Given the description of an element on the screen output the (x, y) to click on. 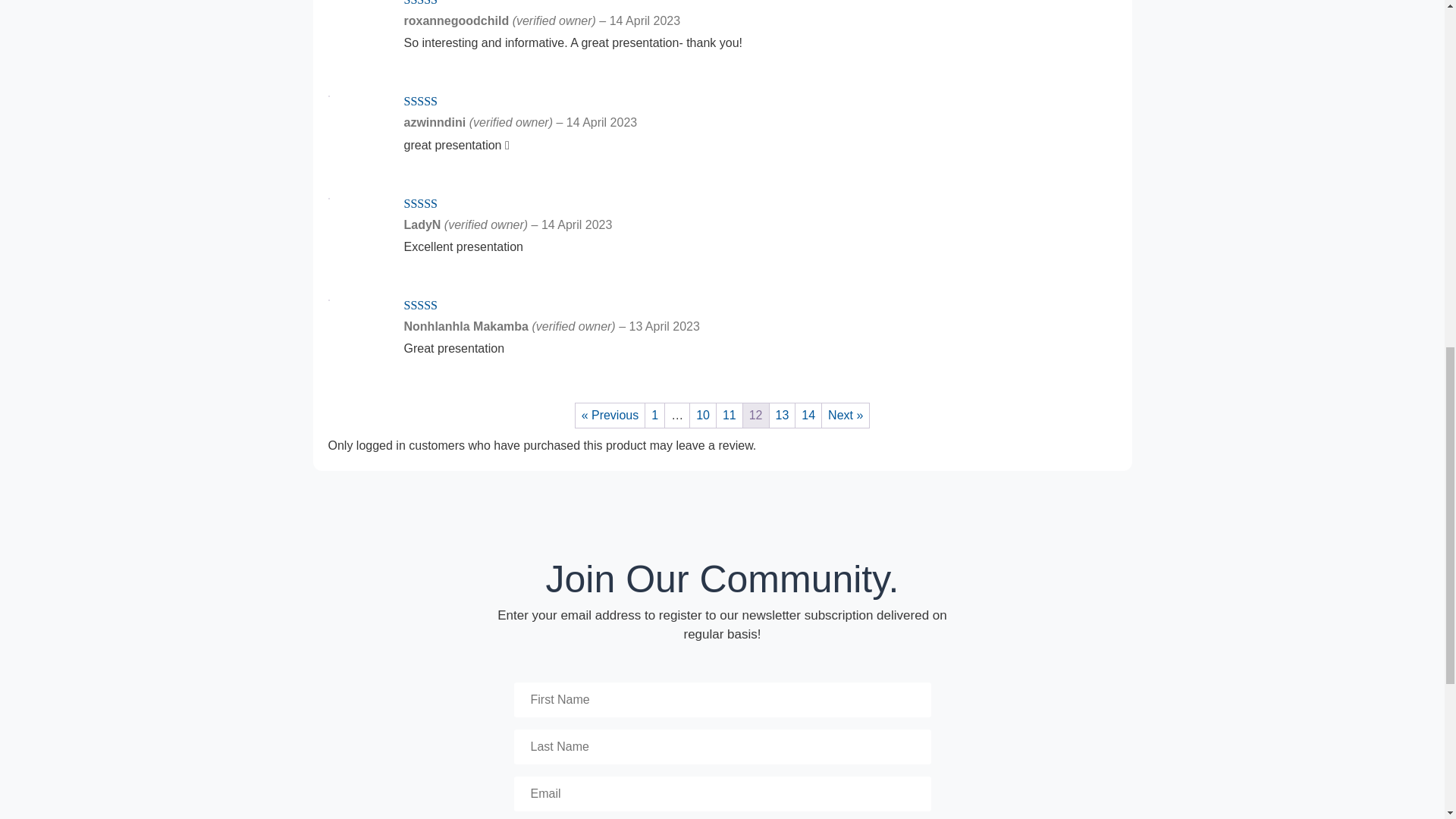
1 (654, 415)
14 (807, 415)
11 (729, 415)
10 (703, 415)
13 (782, 415)
